Given the description of an element on the screen output the (x, y) to click on. 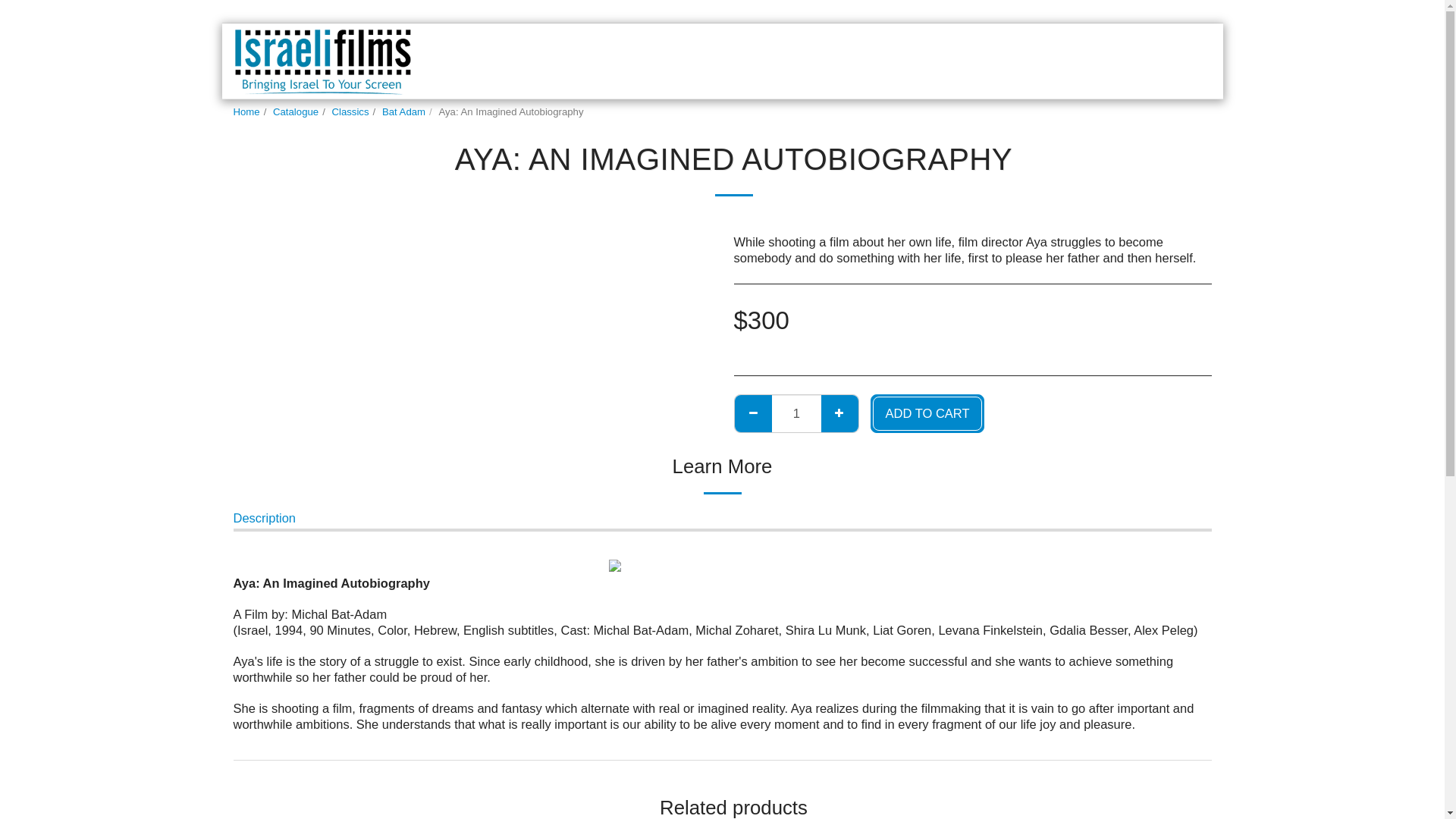
Bat Adam (403, 111)
ADD TO CART (927, 413)
Classics (349, 111)
Description (264, 520)
1 (796, 412)
Catalogue (295, 111)
Home (246, 111)
